Given the description of an element on the screen output the (x, y) to click on. 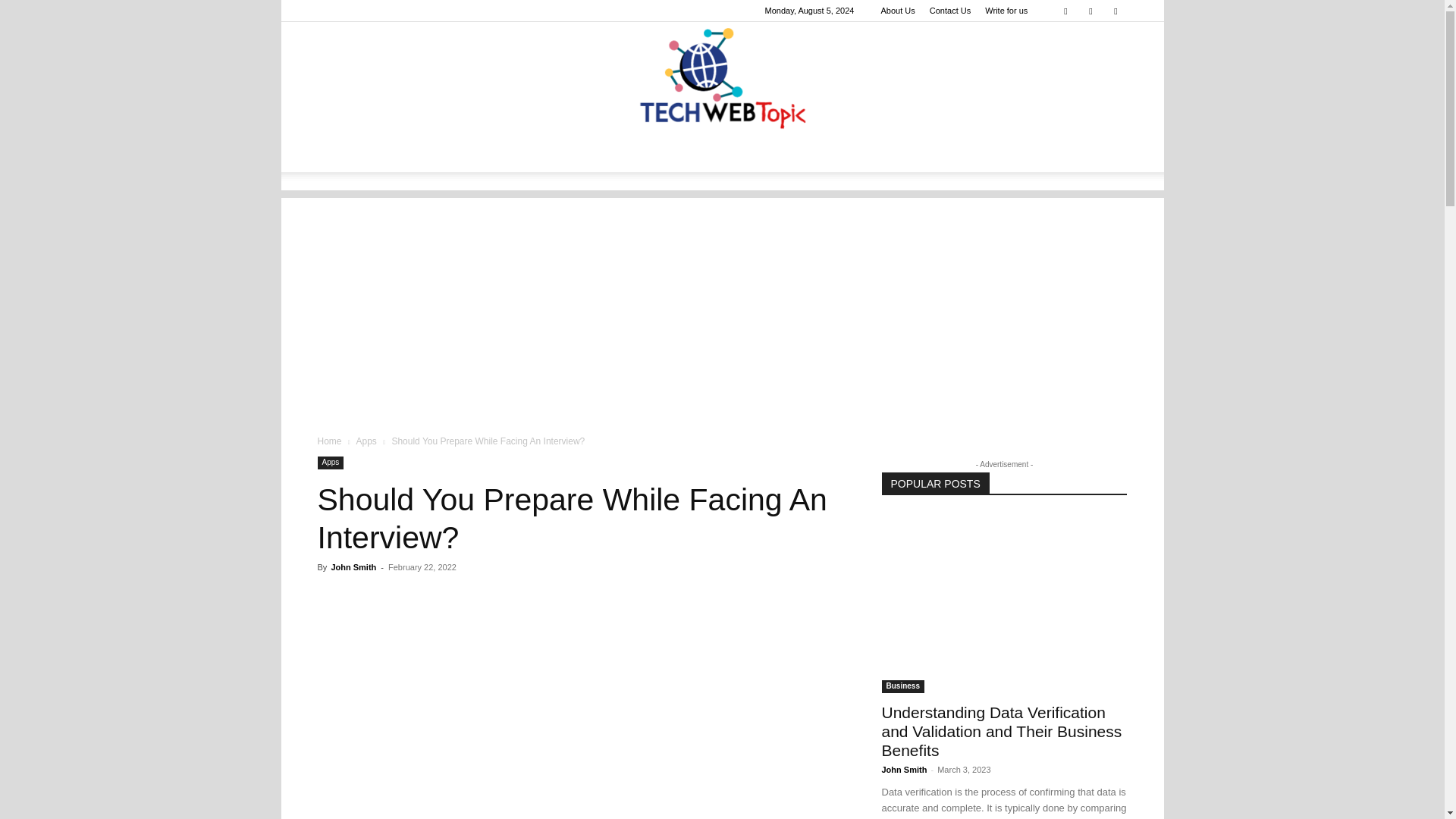
Techwebtopic (721, 78)
Pinterest (1090, 10)
View all posts in Apps (365, 440)
Medium (1065, 10)
Techwebtopic (721, 78)
TECHNOLOGY (365, 153)
Write for us (1006, 10)
Contact Us (950, 10)
Reddit (1114, 10)
About Us (897, 10)
